Given the description of an element on the screen output the (x, y) to click on. 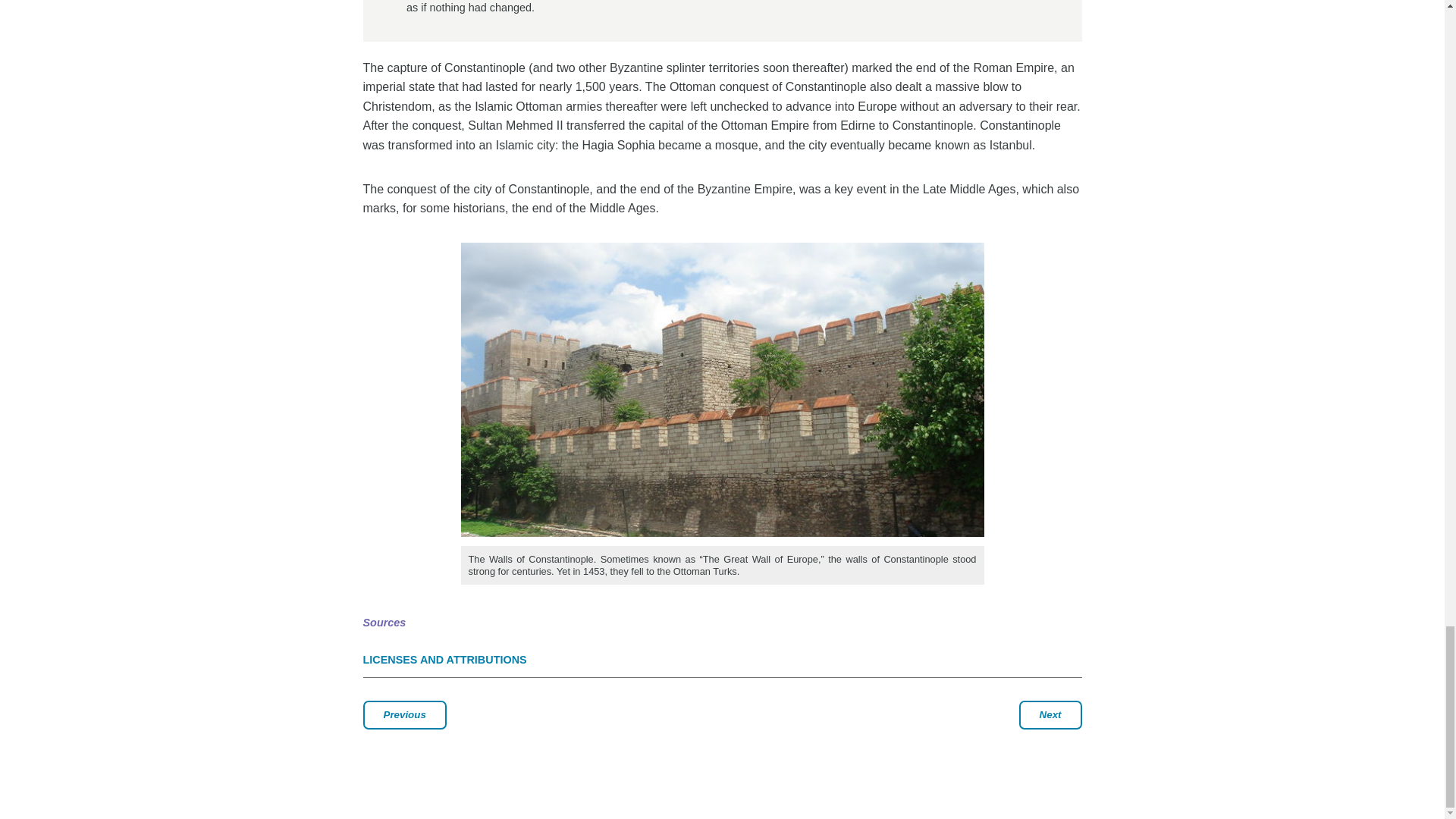
Previous (403, 715)
Next (1050, 715)
